Given the description of an element on the screen output the (x, y) to click on. 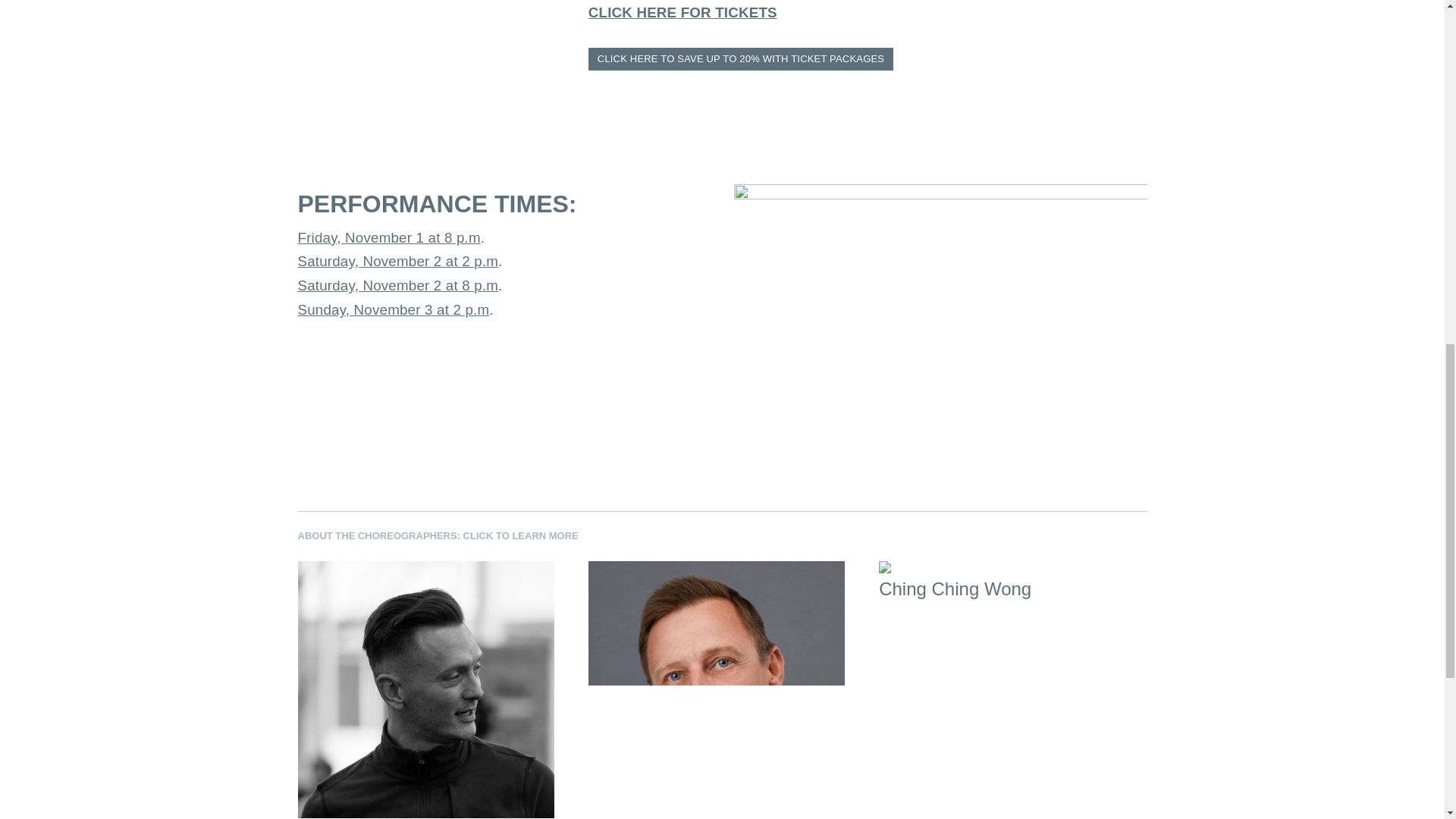
Friday, November 1 at 8 p.m (388, 237)
Sunday, November 3 at 2 p.m (393, 309)
Ching Ching Wong (1007, 579)
Saturday, November 2 at 8 p.m (397, 285)
Harald Uwe Kern (716, 684)
Adam Hougland (426, 684)
CLICK HERE FOR TICKETS (682, 12)
Saturday, November 2 at 2 p.m (397, 261)
